Given the description of an element on the screen output the (x, y) to click on. 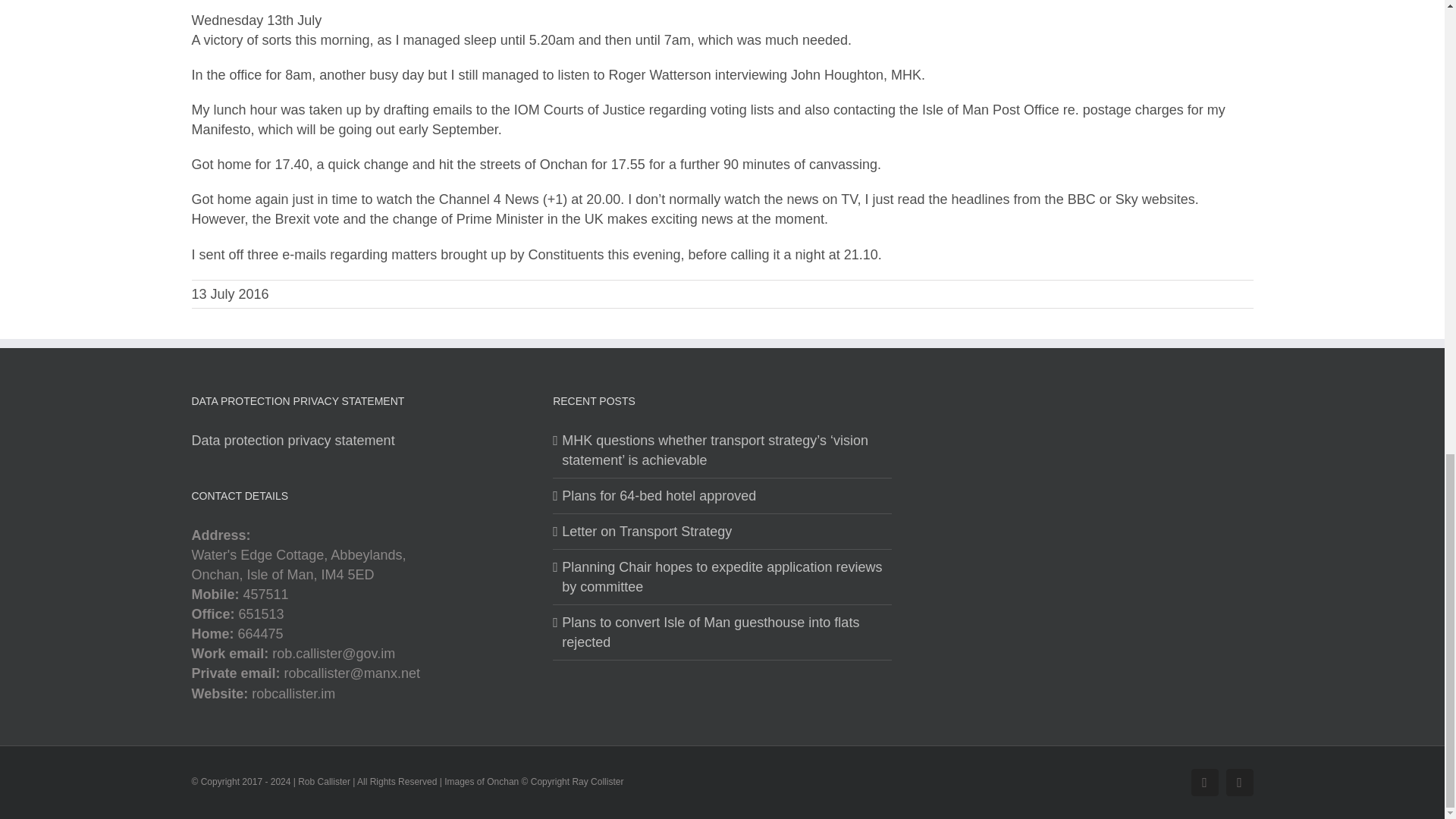
Data protection privacy statement (292, 440)
Plans to convert Isle of Man guesthouse into flats rejected (722, 631)
X (1238, 782)
Facebook (1204, 782)
Plans for 64-bed hotel approved (722, 496)
X (1238, 782)
Facebook (1204, 782)
Letter on Transport Strategy (722, 531)
